Given the description of an element on the screen output the (x, y) to click on. 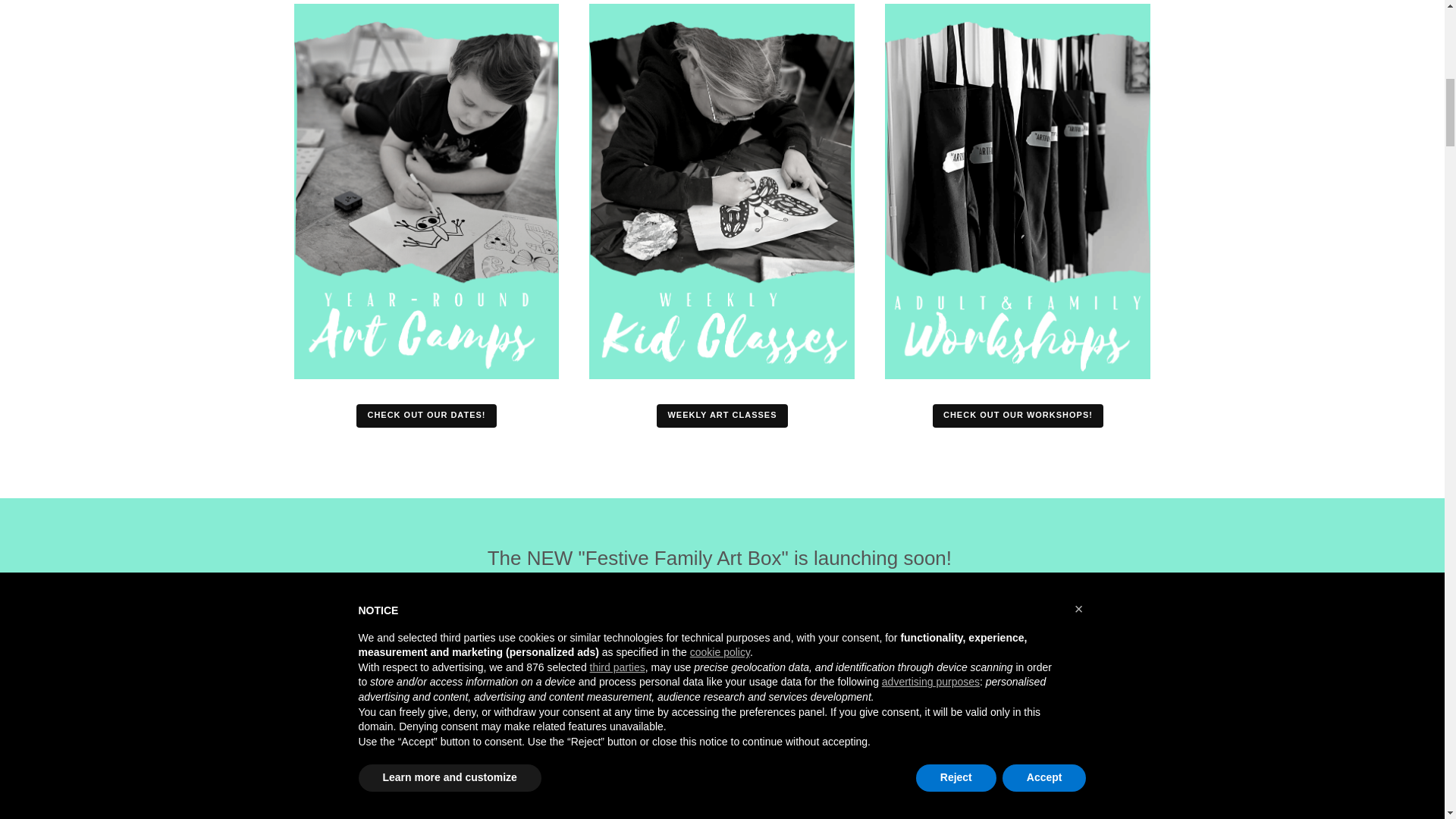
CHECK OUT OUR DATES! (426, 415)
CHECK OUT OUR WORKSHOPS! (1018, 415)
JOIN THE WAITLIST! (721, 627)
WEEKLY ART CLASSES (721, 415)
